Given the description of an element on the screen output the (x, y) to click on. 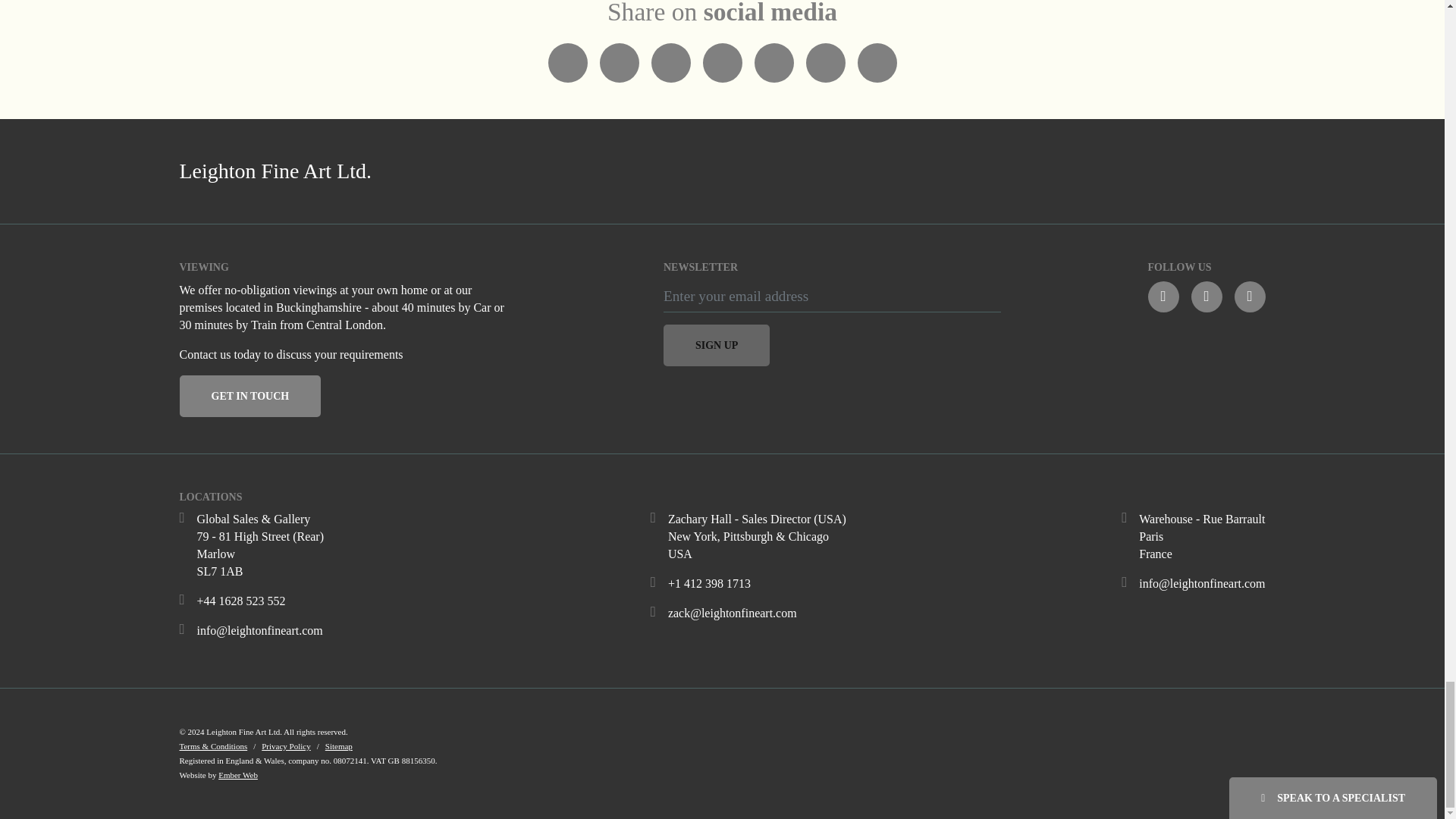
Leighton Fine Art Ltd. (441, 171)
